Given the description of an element on the screen output the (x, y) to click on. 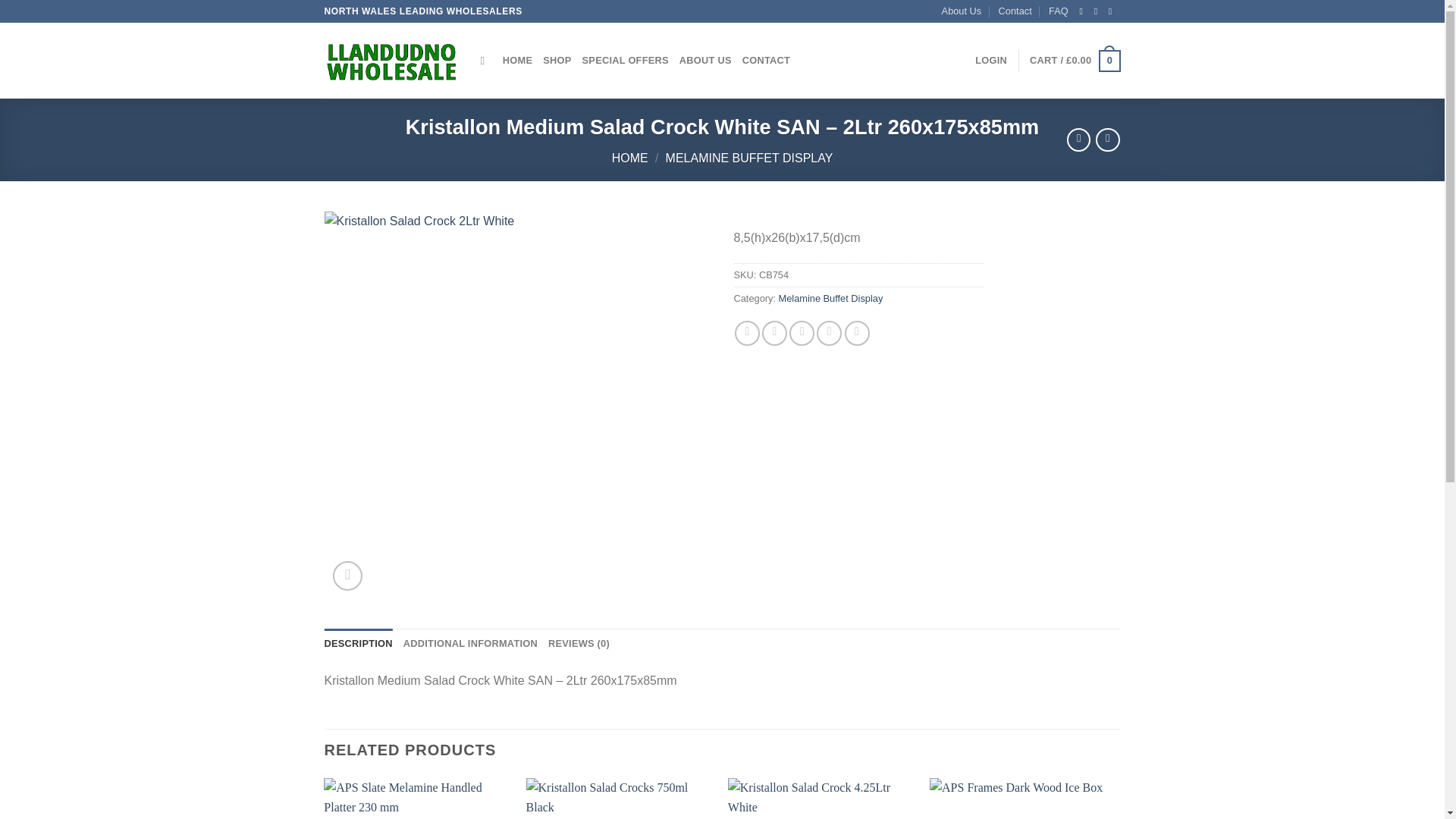
LOGIN (991, 60)
Share on Twitter (774, 333)
SHOP (556, 60)
Zoom (347, 575)
HOME (629, 157)
MELAMINE BUFFET DISPLAY (748, 157)
DESCRIPTION (358, 643)
About Us (961, 11)
HOME (517, 60)
